Given the description of an element on the screen output the (x, y) to click on. 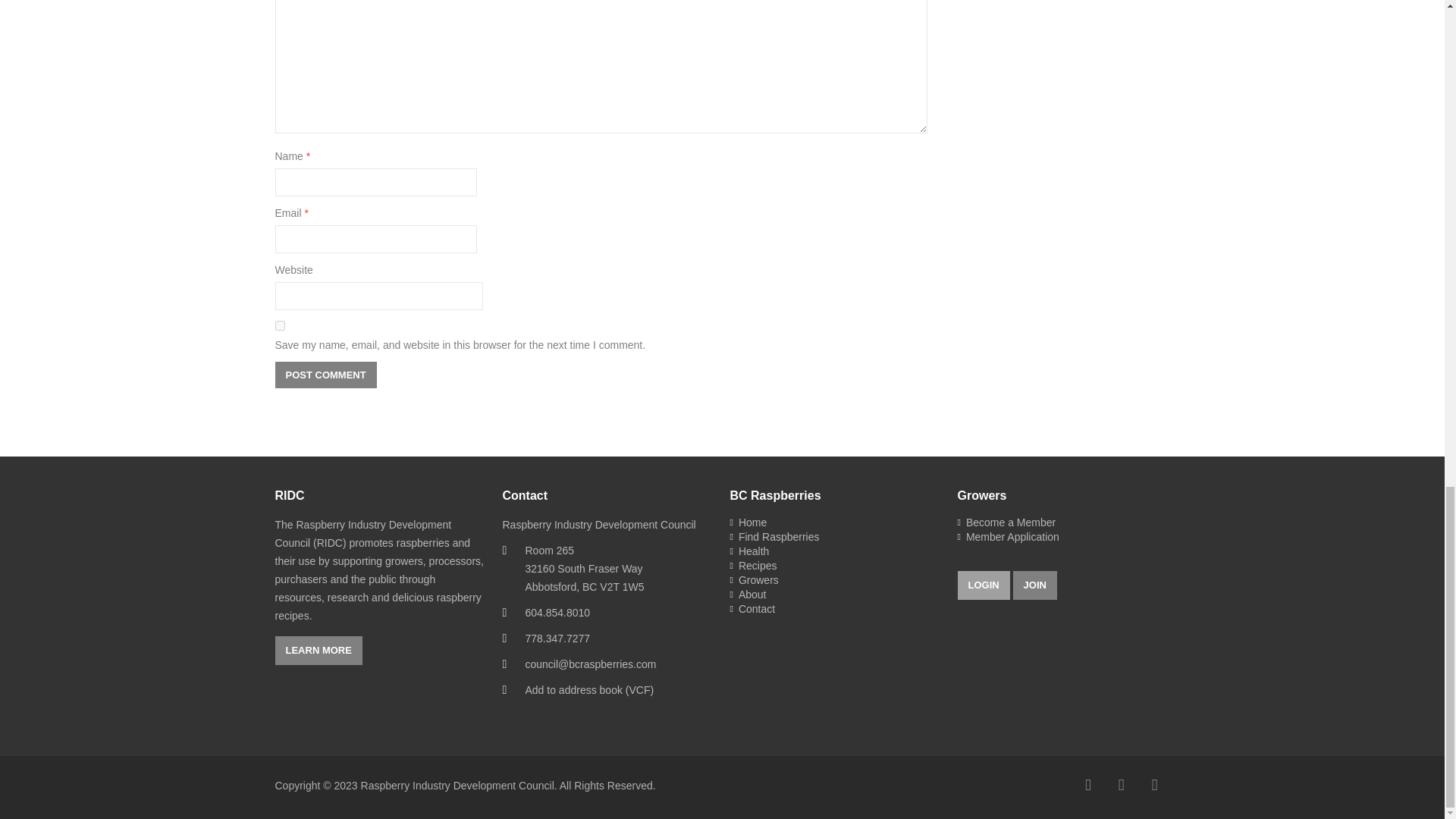
yes (279, 325)
Post Comment (325, 374)
Send a message to the Raspberry Industry Development Council (590, 664)
Instagram (1153, 784)
Post Comment (325, 374)
Facebook (1088, 784)
LEARN MORE (318, 650)
Call the Raspberry Industry Development Council (556, 638)
Twitter (1121, 784)
Call the Raspberry Industry Development Council (556, 612)
